Given the description of an element on the screen output the (x, y) to click on. 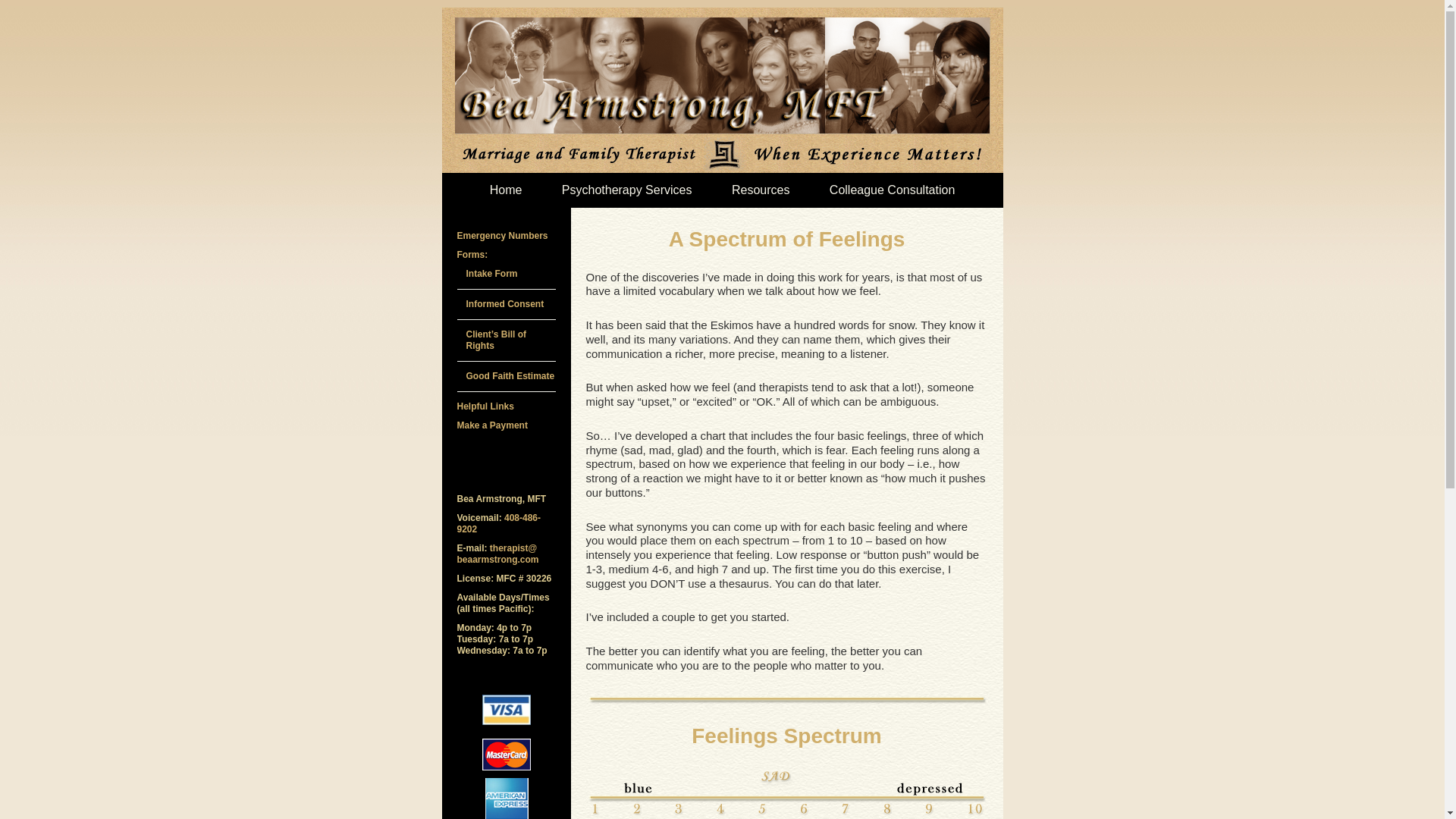
Bea Armstrong, MFT (722, 89)
Colleague Consultation (891, 190)
Intake Form (490, 273)
Informed Consent (504, 303)
Emergency Numbers (502, 235)
Resources (760, 190)
Psychotherapy Services (626, 190)
408-486-9202 (498, 523)
Good Faith Estimate (509, 376)
Helpful Links (485, 406)
